Given the description of an element on the screen output the (x, y) to click on. 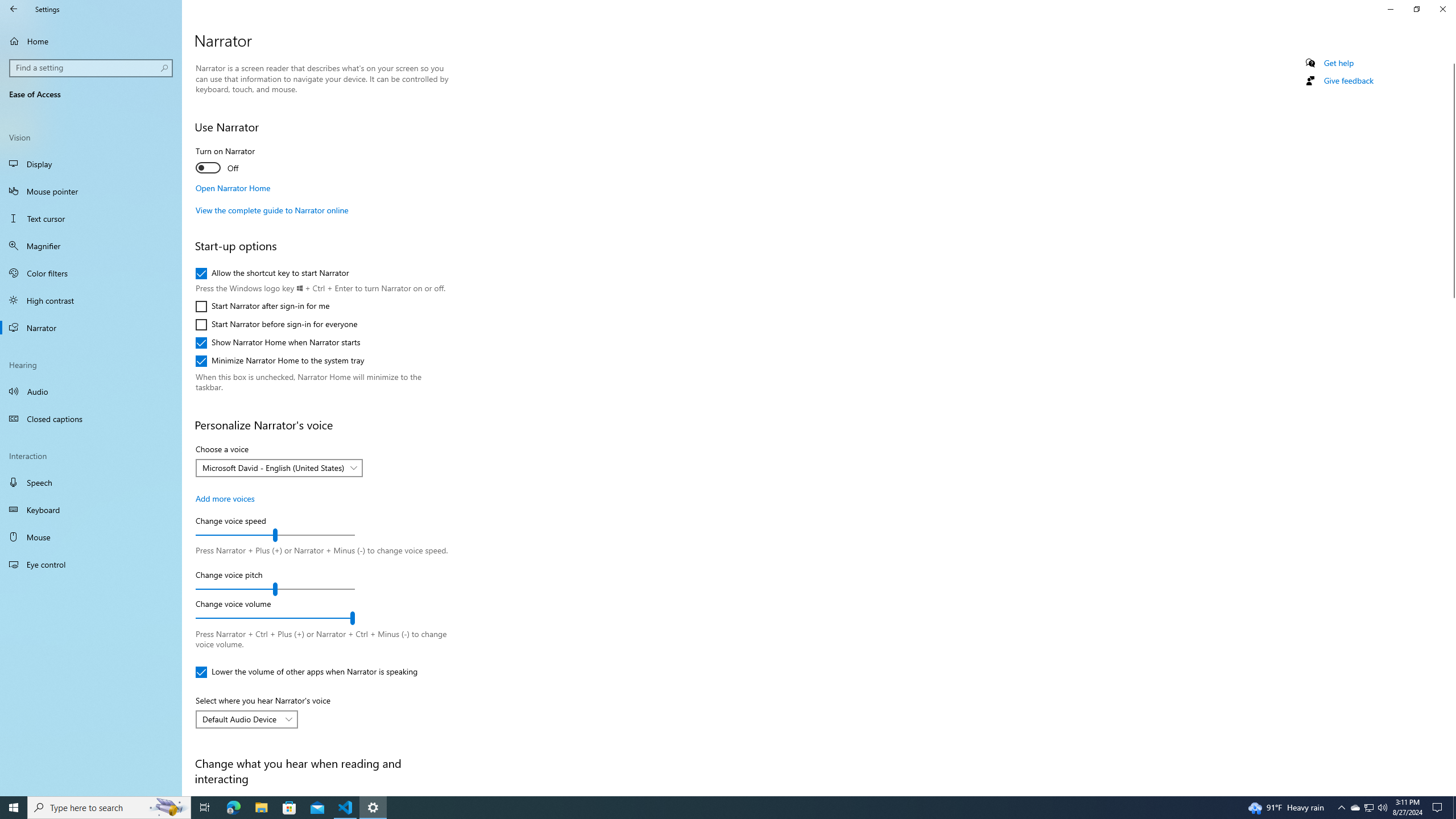
Mouse pointer (91, 190)
